Given the description of an element on the screen output the (x, y) to click on. 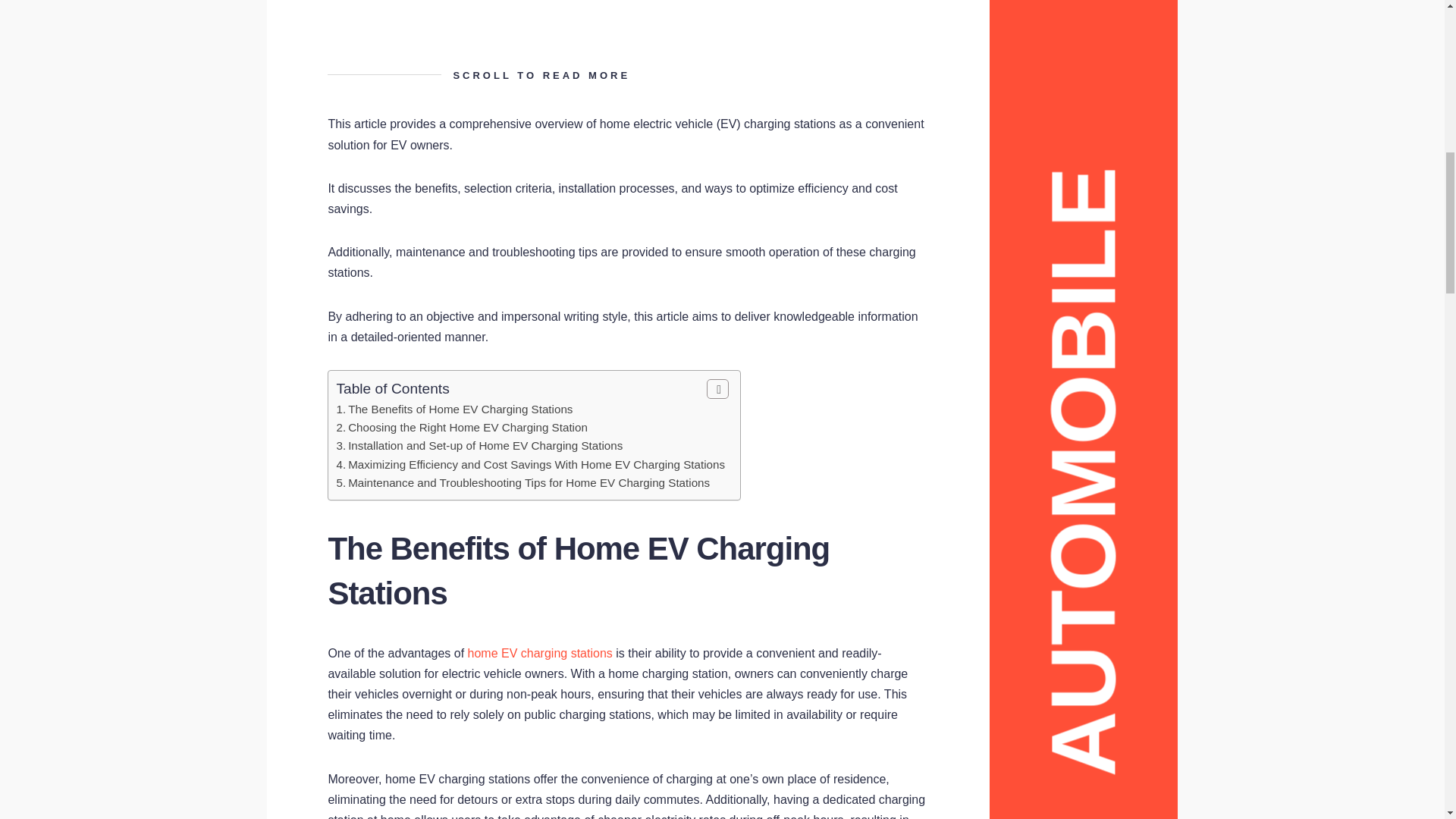
Choosing the Right Home EV Charging Station (467, 427)
Installation and Set-up of Home EV Charging Stations (485, 445)
Installation and Set-up of Home EV Charging Stations (485, 445)
Choosing the Right Home EV Charging Station (467, 427)
home EV charging stations (539, 653)
SCROLL TO READ MORE (627, 75)
The Benefits of Home EV Charging Stations (459, 408)
The Benefits of Home EV Charging Stations (459, 408)
